Given the description of an element on the screen output the (x, y) to click on. 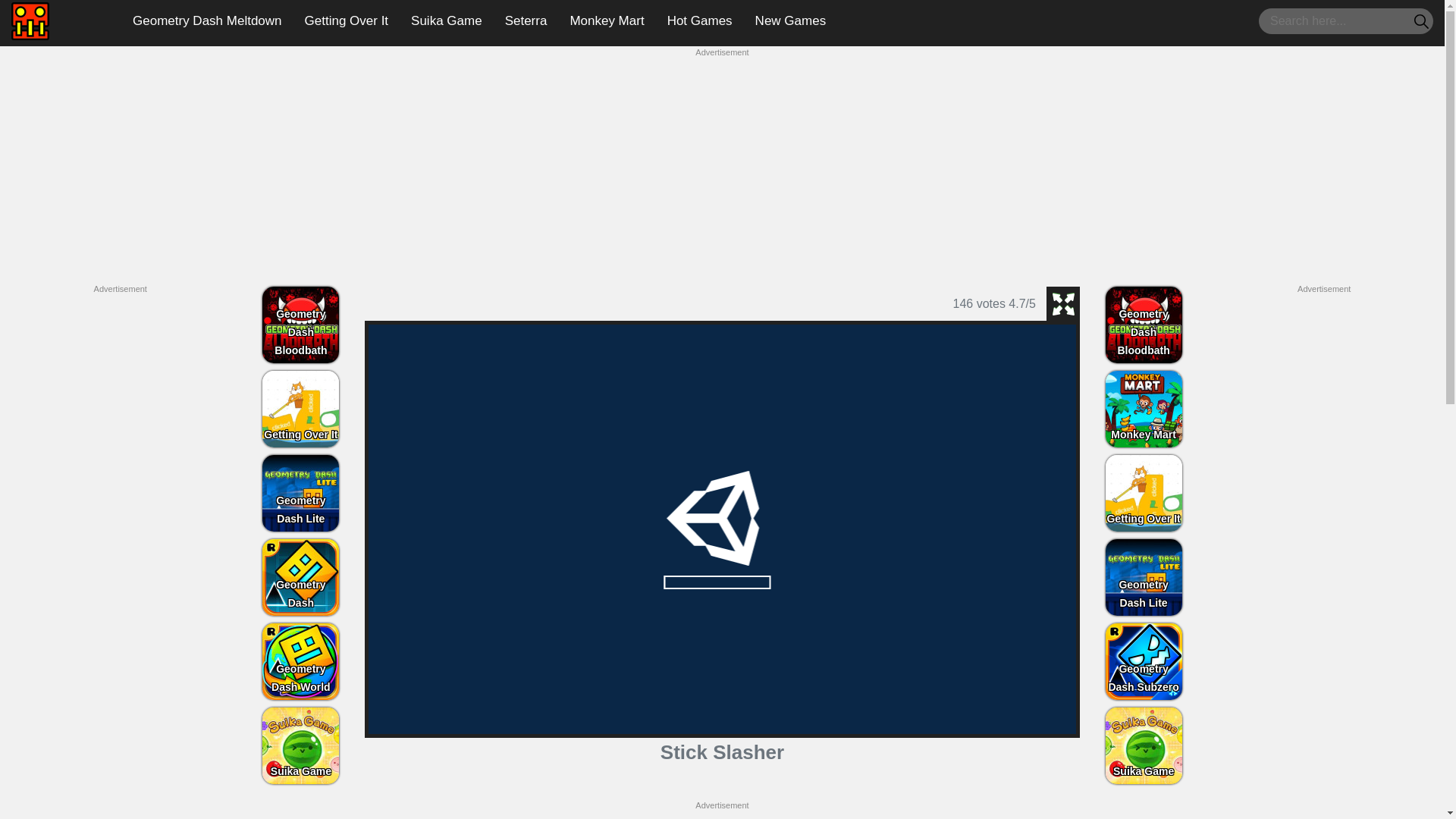
Geometry Dash Meltdown (207, 20)
New Games (791, 20)
Seterra (525, 20)
Suika Game (300, 744)
Advertisement (120, 389)
Getting Over It (1144, 493)
Suika Game (446, 20)
Geometry Dash Lite (1144, 576)
Geometry Dash (300, 576)
Suika Game (300, 744)
